Given the description of an element on the screen output the (x, y) to click on. 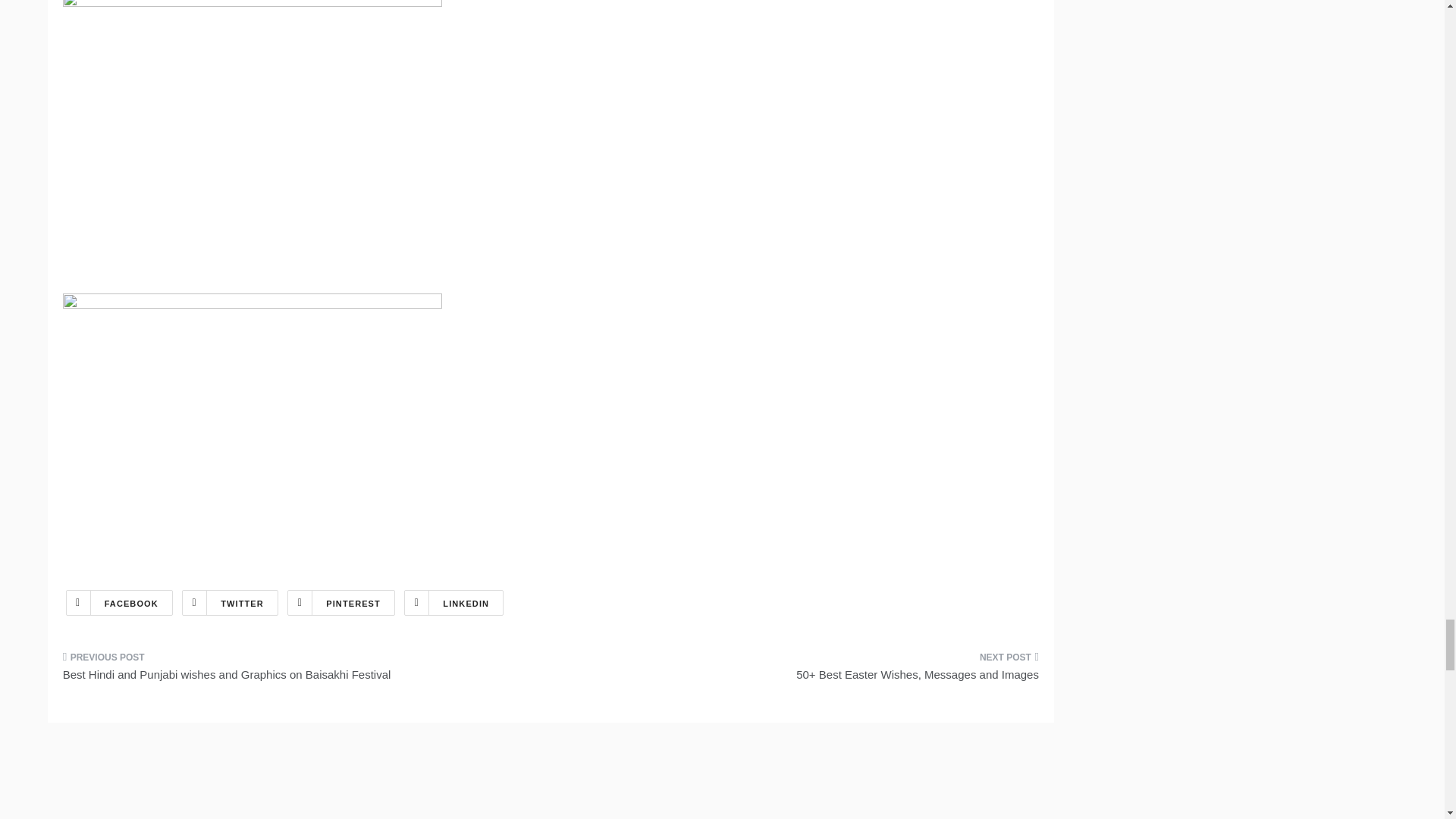
LINKEDIN (453, 602)
FACEBOOK (119, 602)
TWITTER (230, 602)
PINTEREST (340, 602)
